Given the description of an element on the screen output the (x, y) to click on. 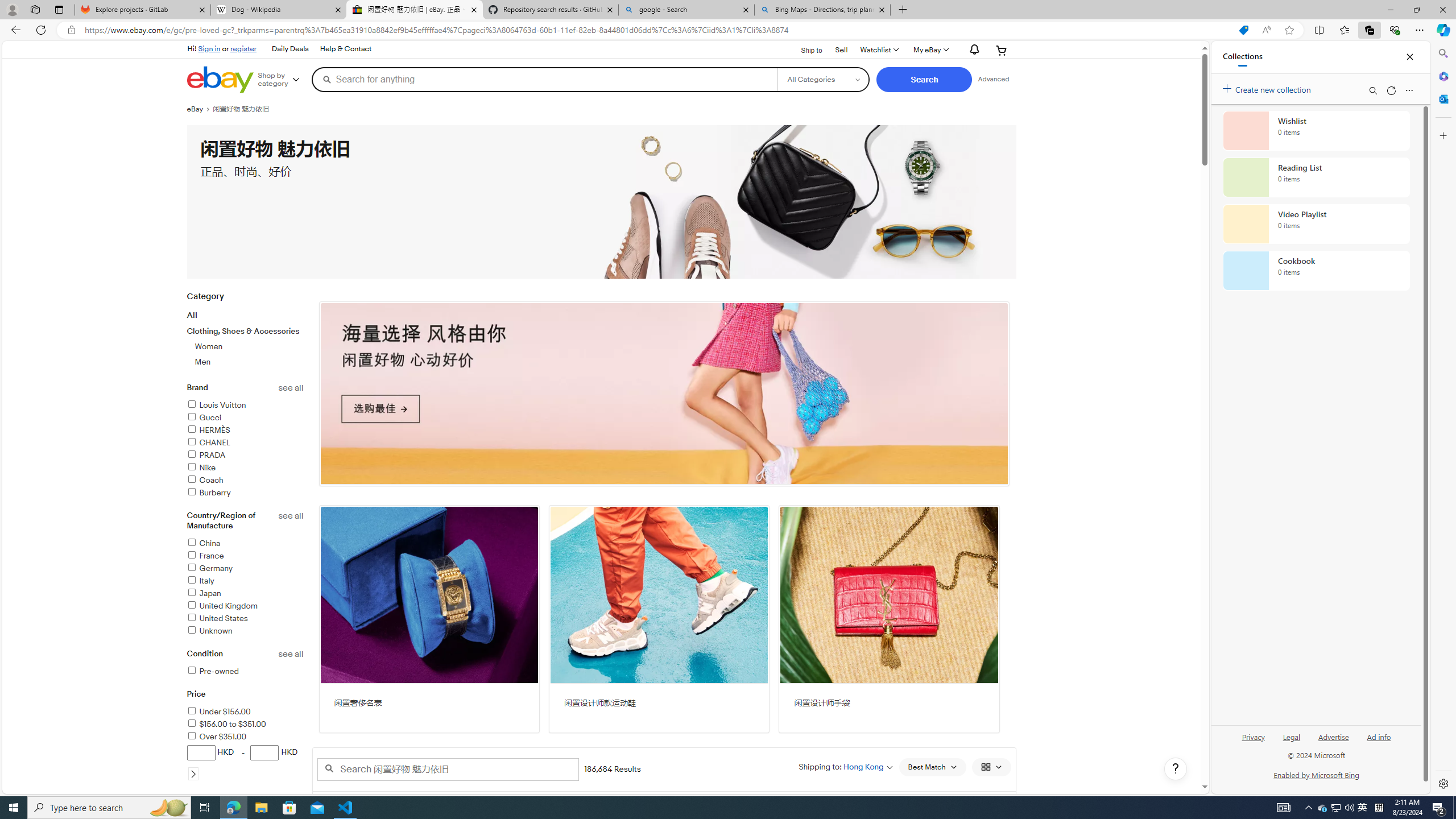
Class: carousel__snap-point (663, 393)
Sort: Best Match (932, 766)
243 (663, 393)
eBay Home (219, 79)
Sell (841, 49)
PriceUnder $156.00$156.00 to $351.00Over $351.00HKD-HKD (245, 741)
France (245, 556)
Women (249, 346)
More options menu (1409, 90)
China (245, 543)
Advanced Search (993, 78)
All (192, 315)
